Given the description of an element on the screen output the (x, y) to click on. 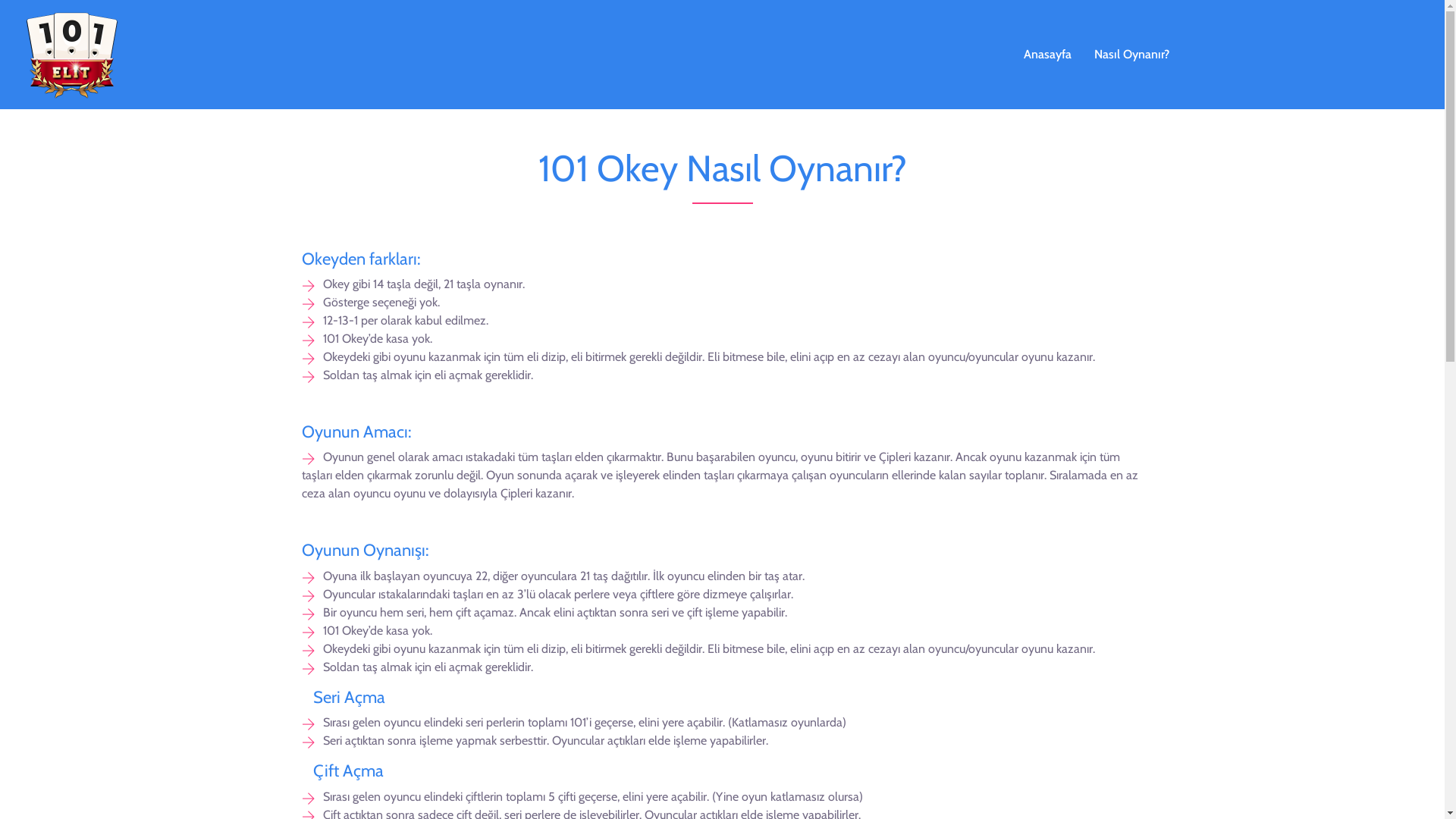
Anasayfa Element type: text (1046, 54)
